Given the description of an element on the screen output the (x, y) to click on. 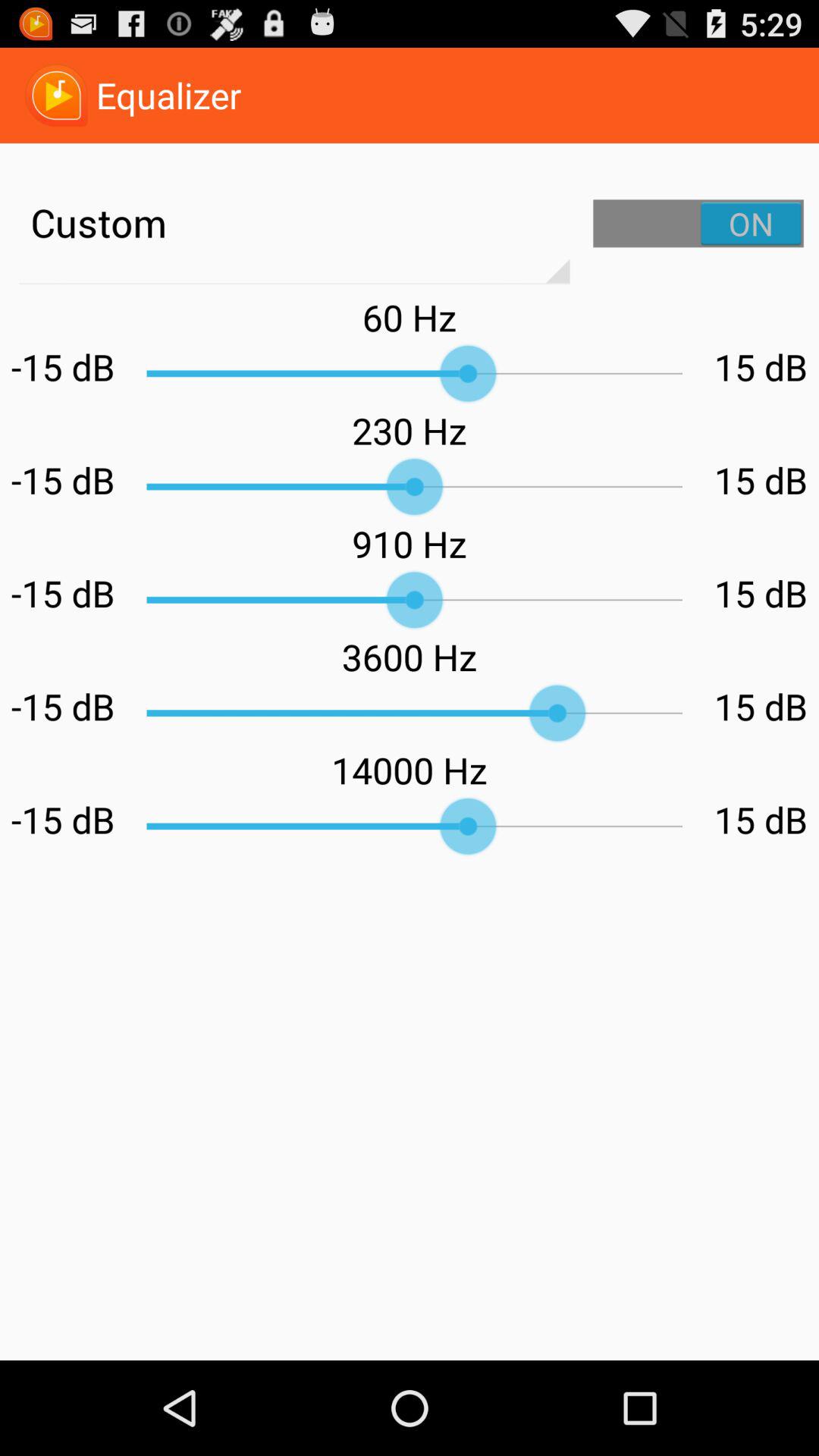
toggle custom settings (698, 223)
